Given the description of an element on the screen output the (x, y) to click on. 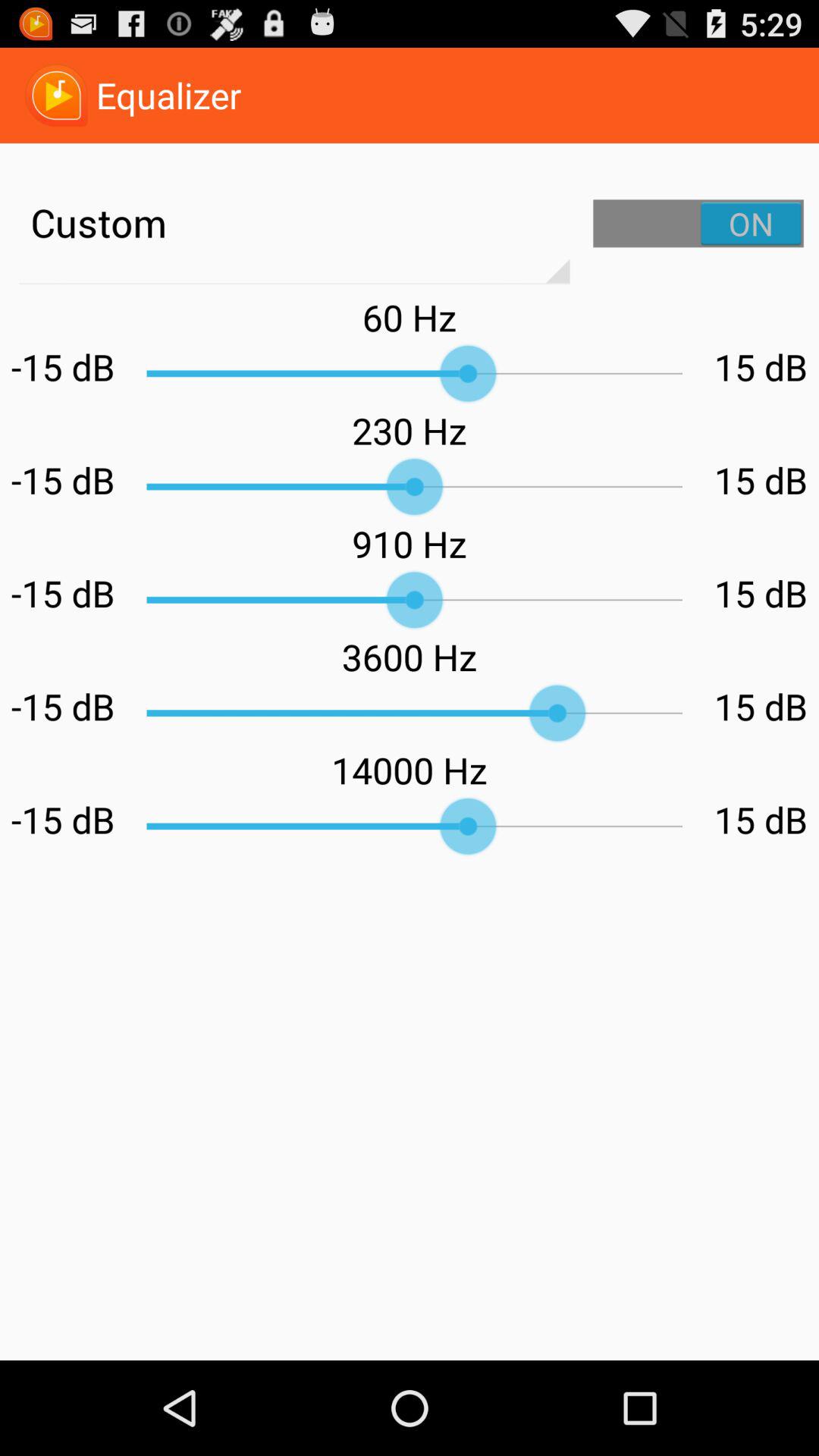
toggle custom settings (698, 223)
